Given the description of an element on the screen output the (x, y) to click on. 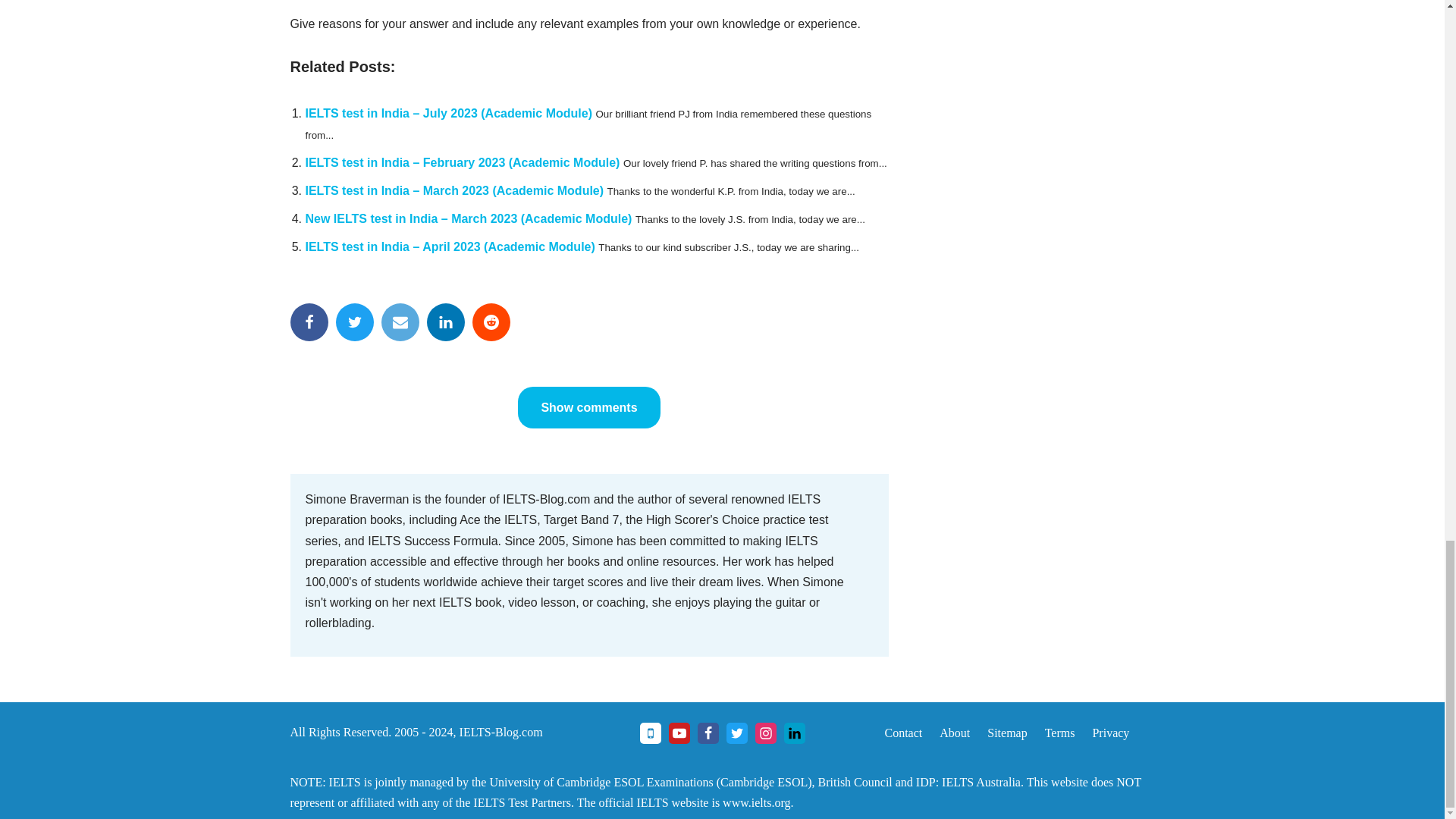
LinkedIn (445, 322)
Email (399, 322)
Facebook (308, 322)
Twitter (353, 322)
